Given the description of an element on the screen output the (x, y) to click on. 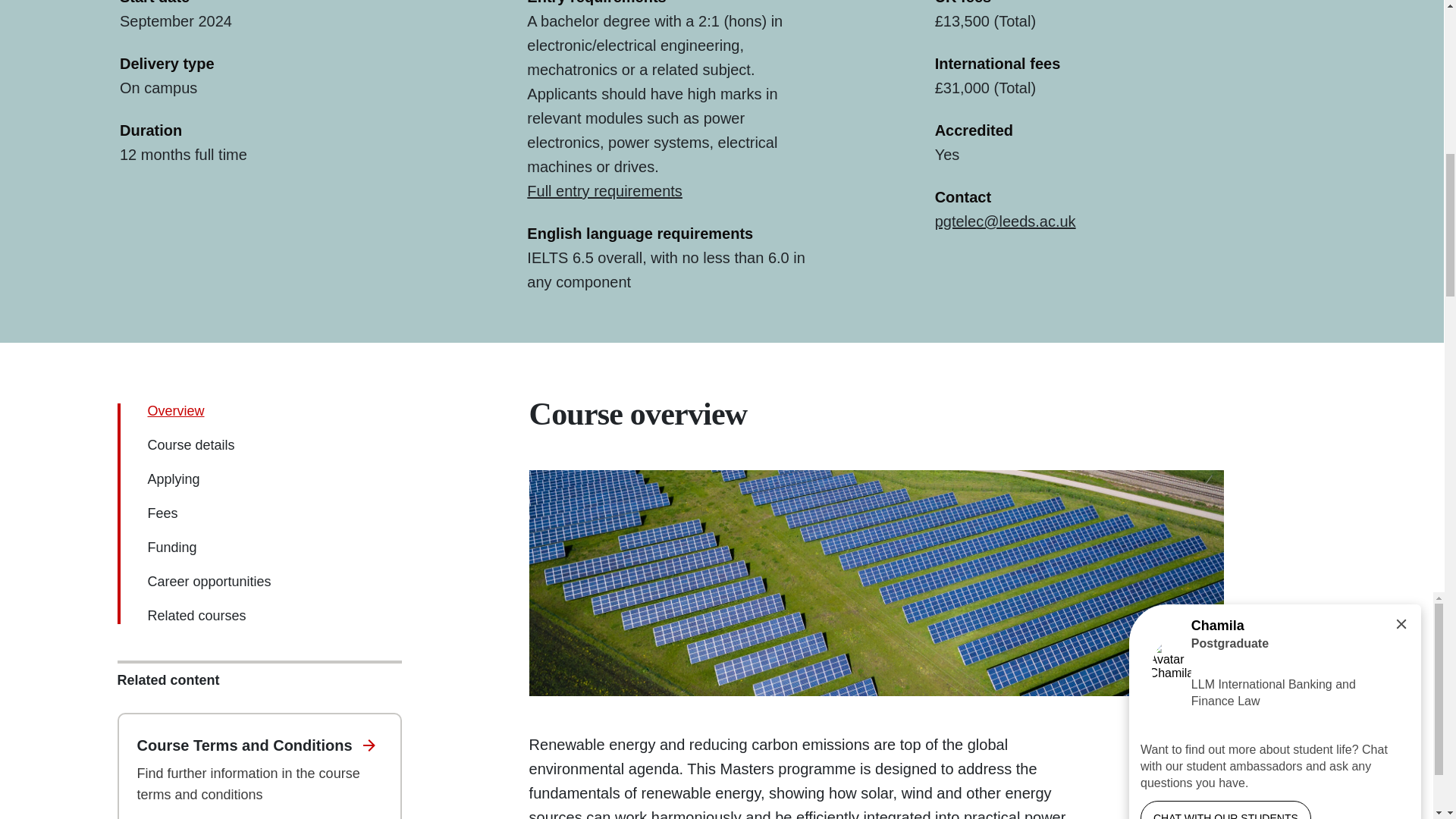
Full entry requirements (604, 190)
Fees (162, 513)
Course details (190, 444)
Overview (175, 410)
Career opportunities (208, 581)
Funding (171, 547)
Applying (173, 478)
